Given the description of an element on the screen output the (x, y) to click on. 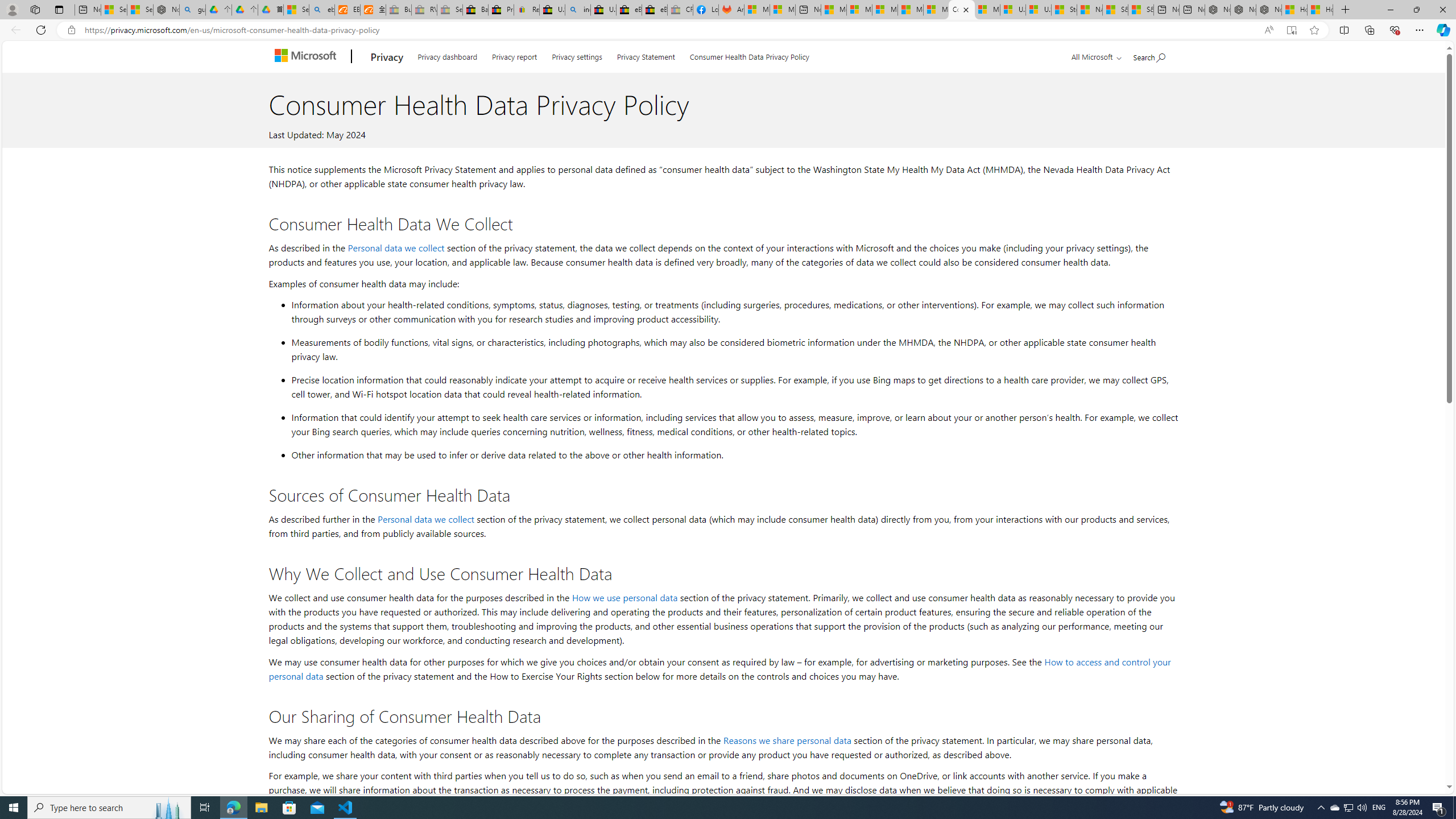
Microsoft (306, 56)
Consumer Health Data Privacy Policy (748, 54)
S&P 500, Nasdaq end lower, weighed by Nvidia dip | Watch (1140, 9)
